Given the description of an element on the screen output the (x, y) to click on. 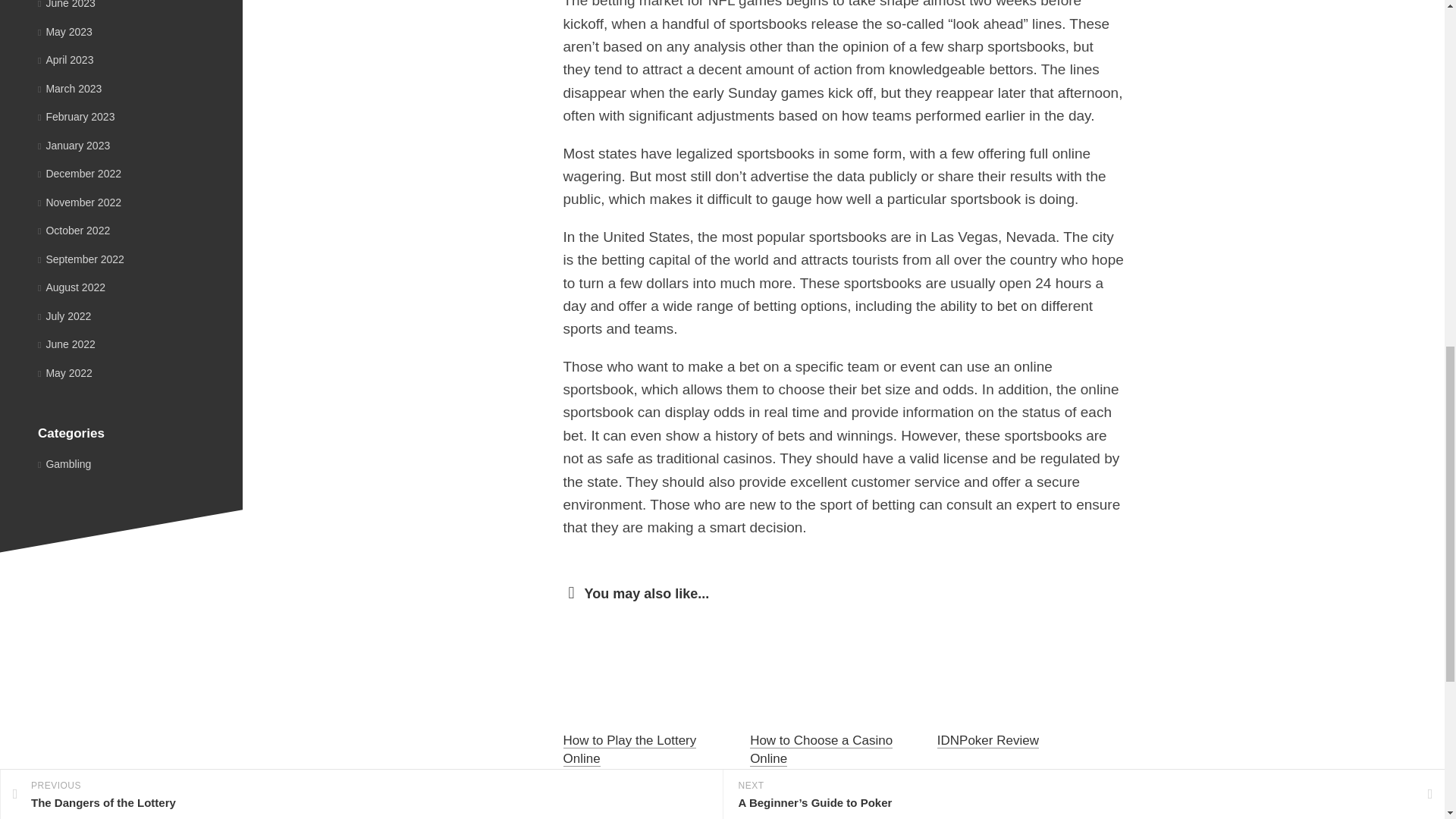
February 2023 (76, 116)
March 2023 (69, 87)
October 2022 (73, 230)
January 2023 (73, 145)
April 2023 (65, 60)
How to Choose a Casino Online (820, 749)
December 2022 (78, 173)
June 2023 (66, 4)
How to Play the Lottery Online (628, 749)
IDNPoker Review (988, 740)
May 2023 (65, 31)
November 2022 (78, 201)
